Given the description of an element on the screen output the (x, y) to click on. 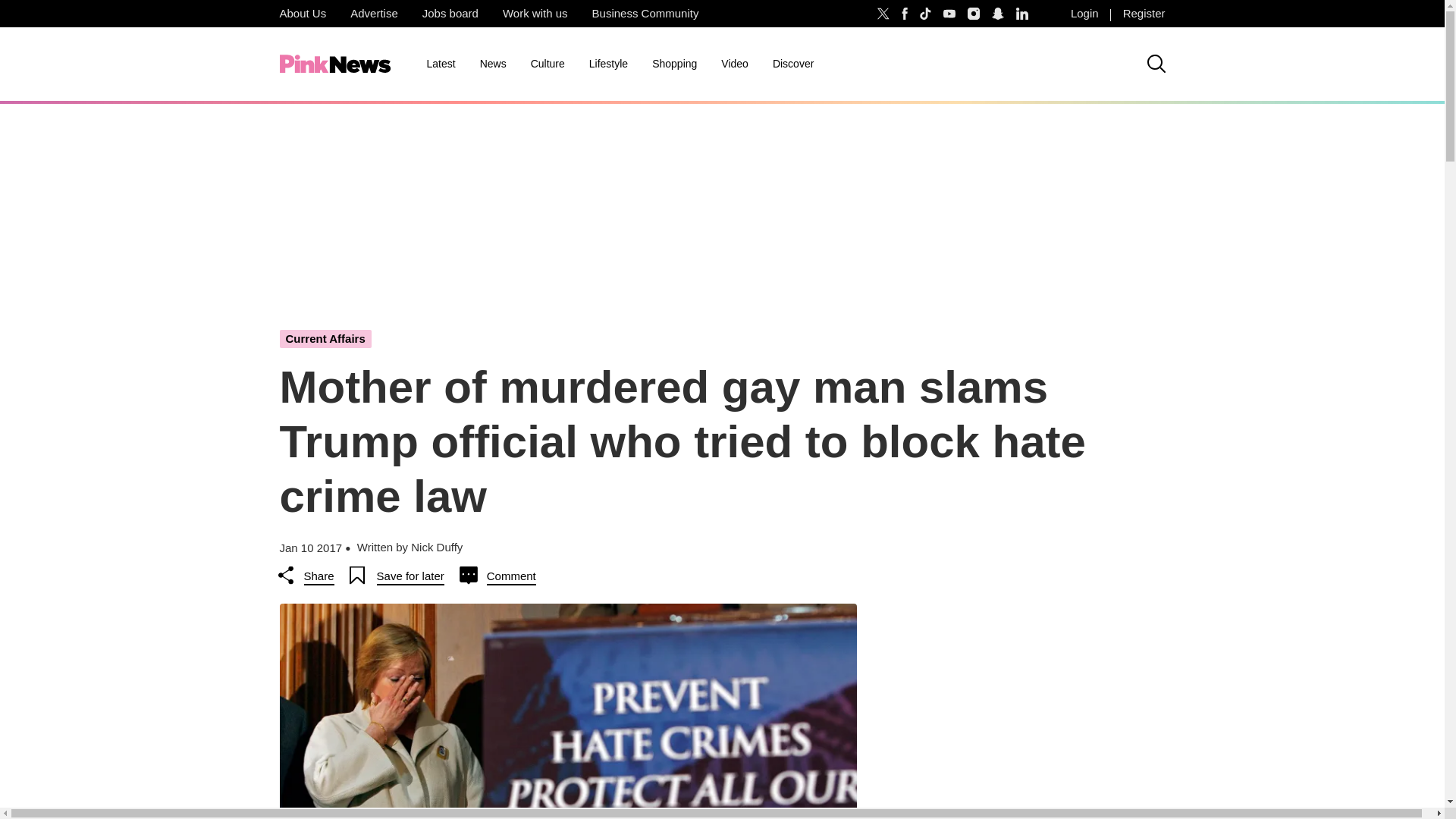
Login (1084, 13)
Jobs board (450, 13)
Latest (440, 63)
Advertise (373, 13)
Lifestyle (608, 63)
News (493, 63)
Culture (547, 63)
Register (1143, 13)
Business Community (645, 13)
Follow PinkNews on LinkedIn (1021, 13)
